Given the description of an element on the screen output the (x, y) to click on. 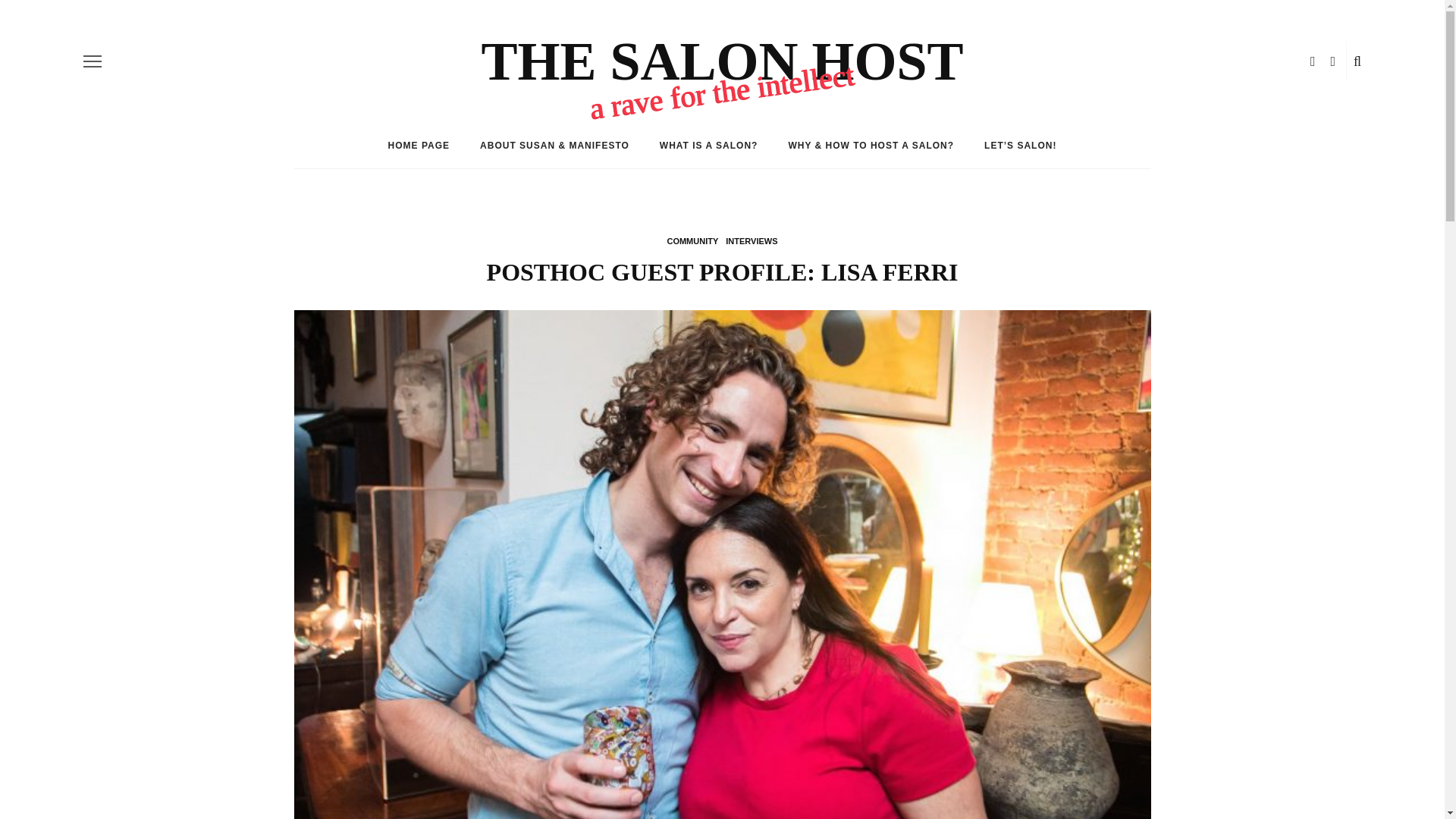
HOME PAGE (418, 145)
THE SALON HOST (721, 61)
WHAT IS A SALON? (709, 145)
COMMUNITY (691, 240)
off canvas button (91, 61)
Posthoc Guest Profile: Lisa Ferri (722, 595)
INTERVIEWS (751, 240)
